Given the description of an element on the screen output the (x, y) to click on. 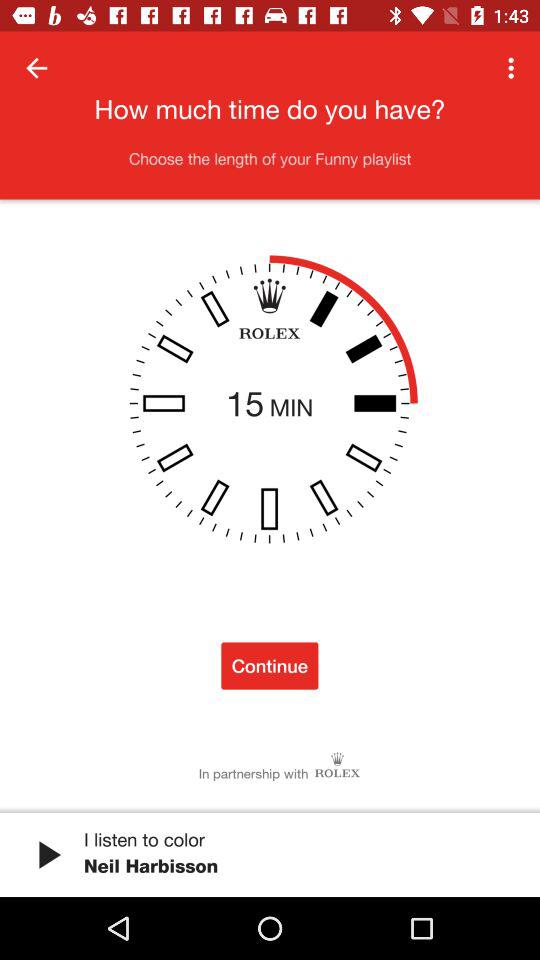
flip to continue (269, 665)
